Given the description of an element on the screen output the (x, y) to click on. 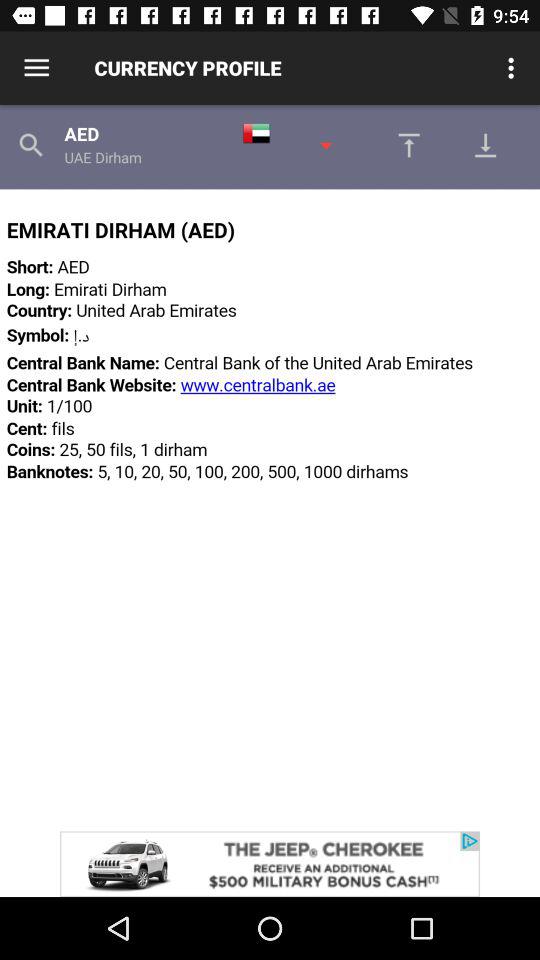
go to download (403, 145)
